Given the description of an element on the screen output the (x, y) to click on. 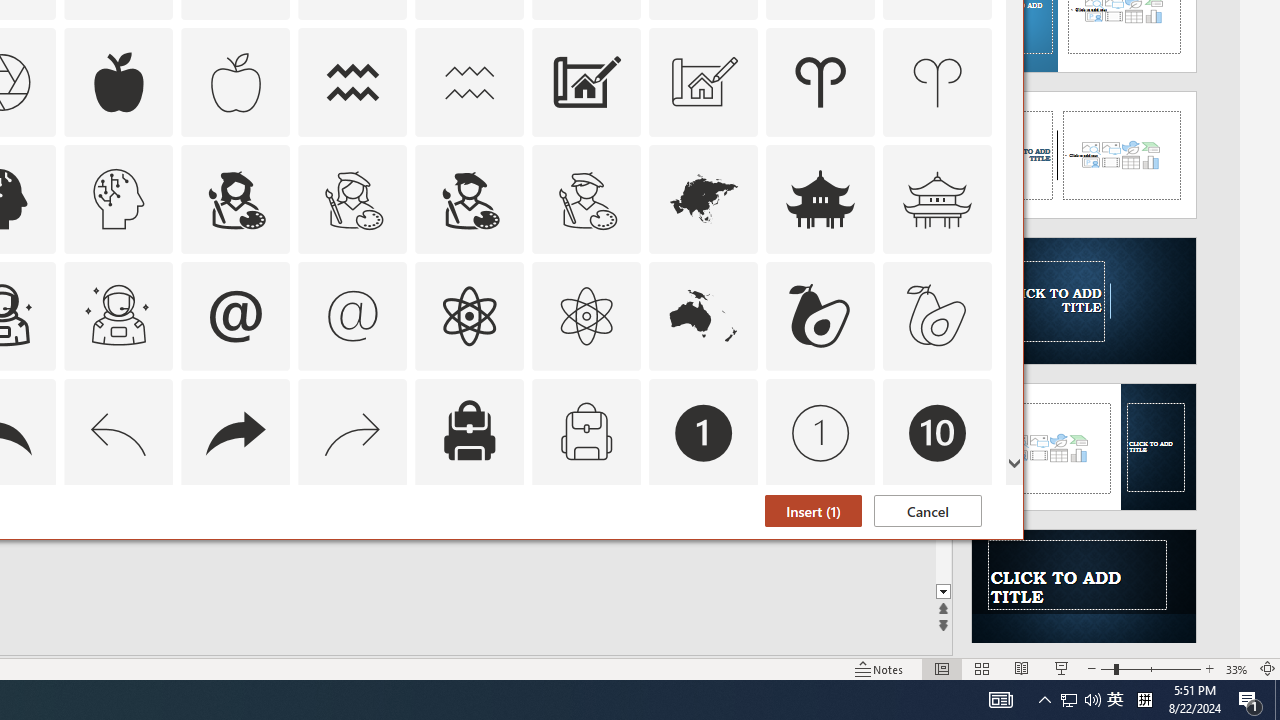
AutomationID: Icons_Avocado_M (938, 316)
AutomationID: Icons_Badge6_M (235, 550)
AutomationID: Icons_Badge9_M (938, 550)
AutomationID: Icons_Avocado (820, 316)
AutomationID: Icons_AstronautMale_M (118, 316)
AutomationID: Icons_Aquarius (353, 82)
AutomationID: Icons_Australia (703, 316)
